Given the description of an element on the screen output the (x, y) to click on. 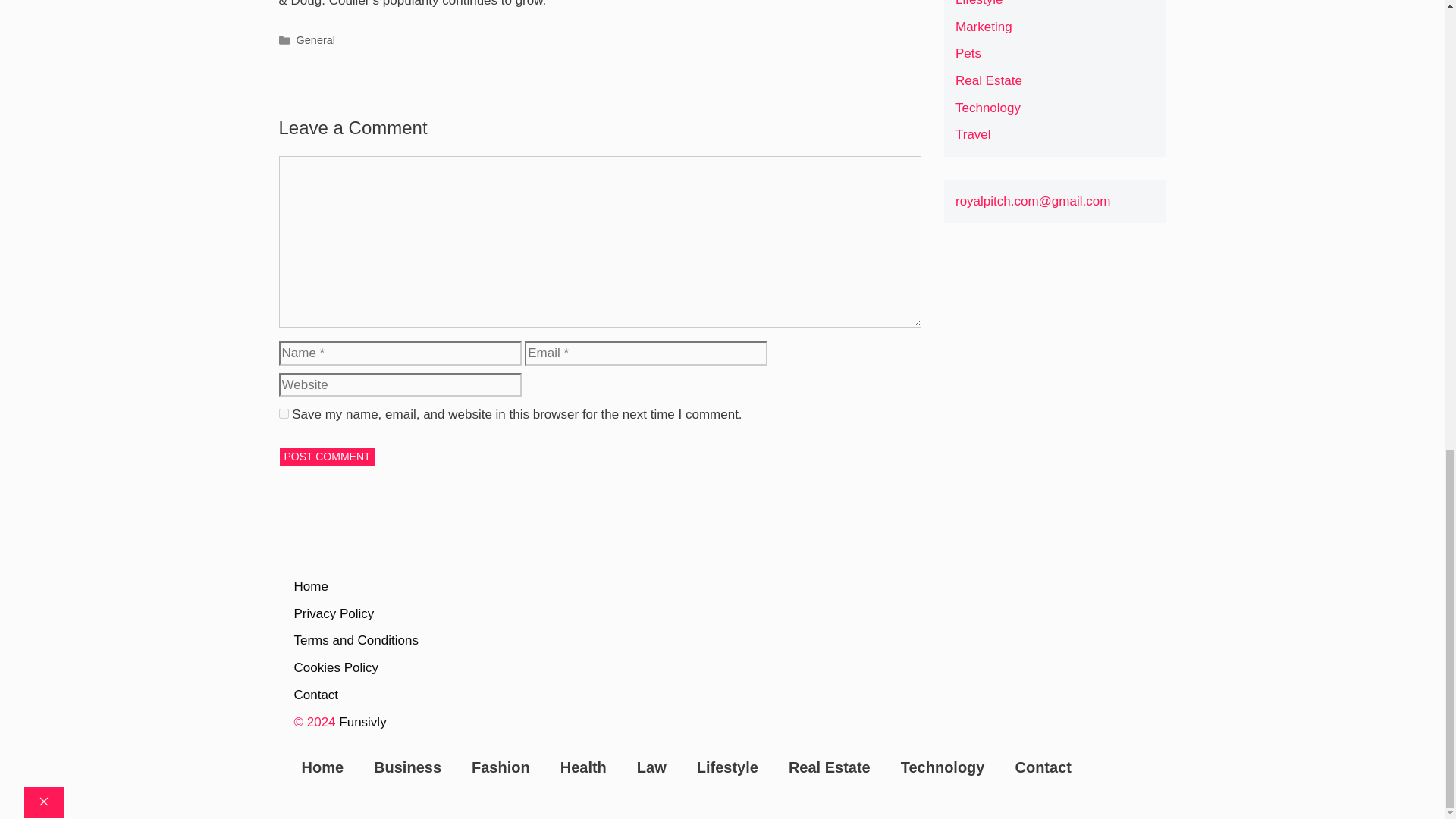
Post Comment (327, 456)
General (315, 39)
Lifestyle (979, 3)
Marketing (983, 26)
Post Comment (327, 456)
yes (283, 413)
